Given the description of an element on the screen output the (x, y) to click on. 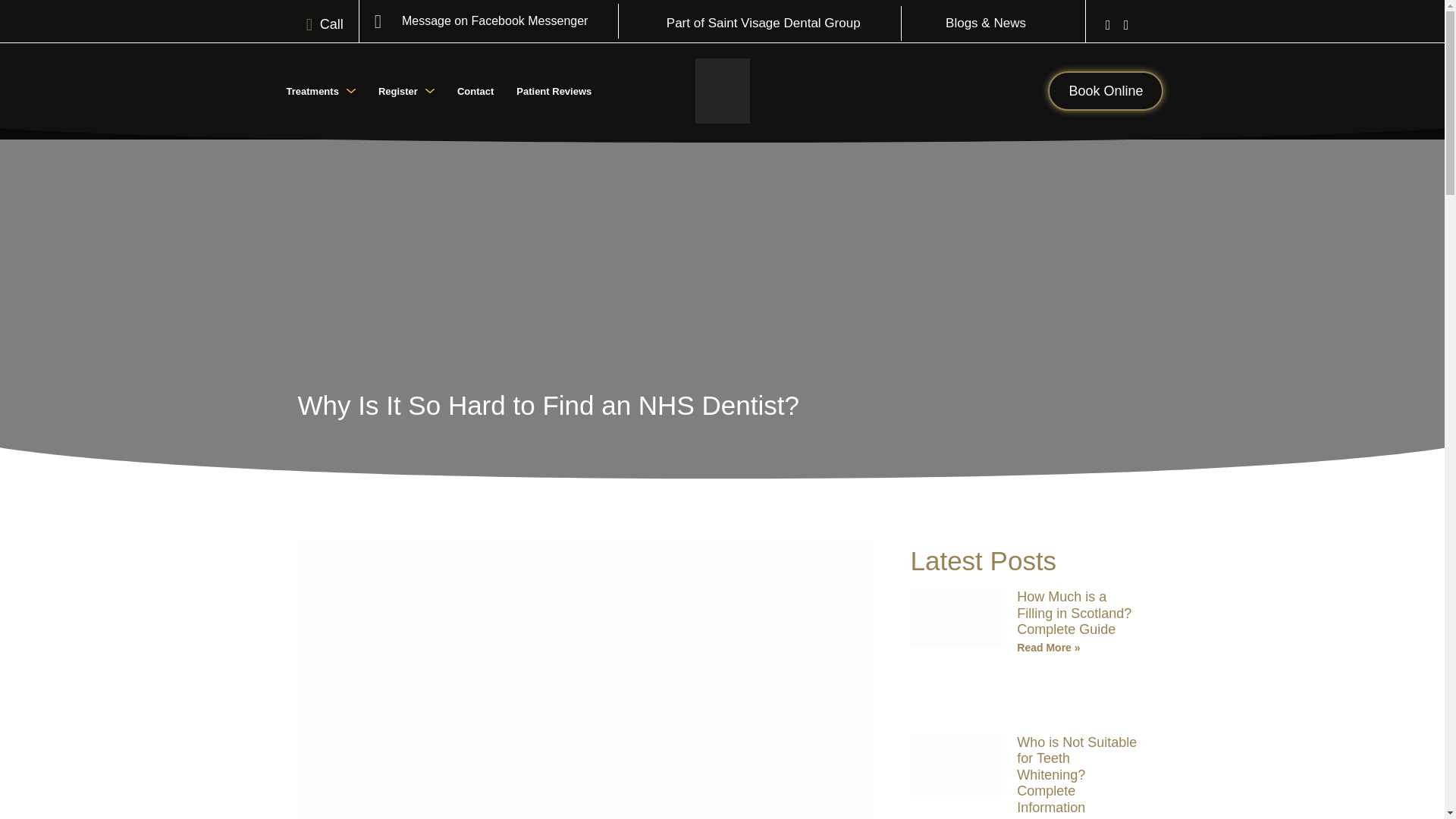
Call (317, 24)
Patient Reviews (553, 90)
Message on Facebook Messenger (481, 21)
Part of Saint Visage Dental Group (763, 23)
Book Online (1105, 90)
Treatments (320, 90)
Contact (475, 90)
Register (405, 90)
